Given the description of an element on the screen output the (x, y) to click on. 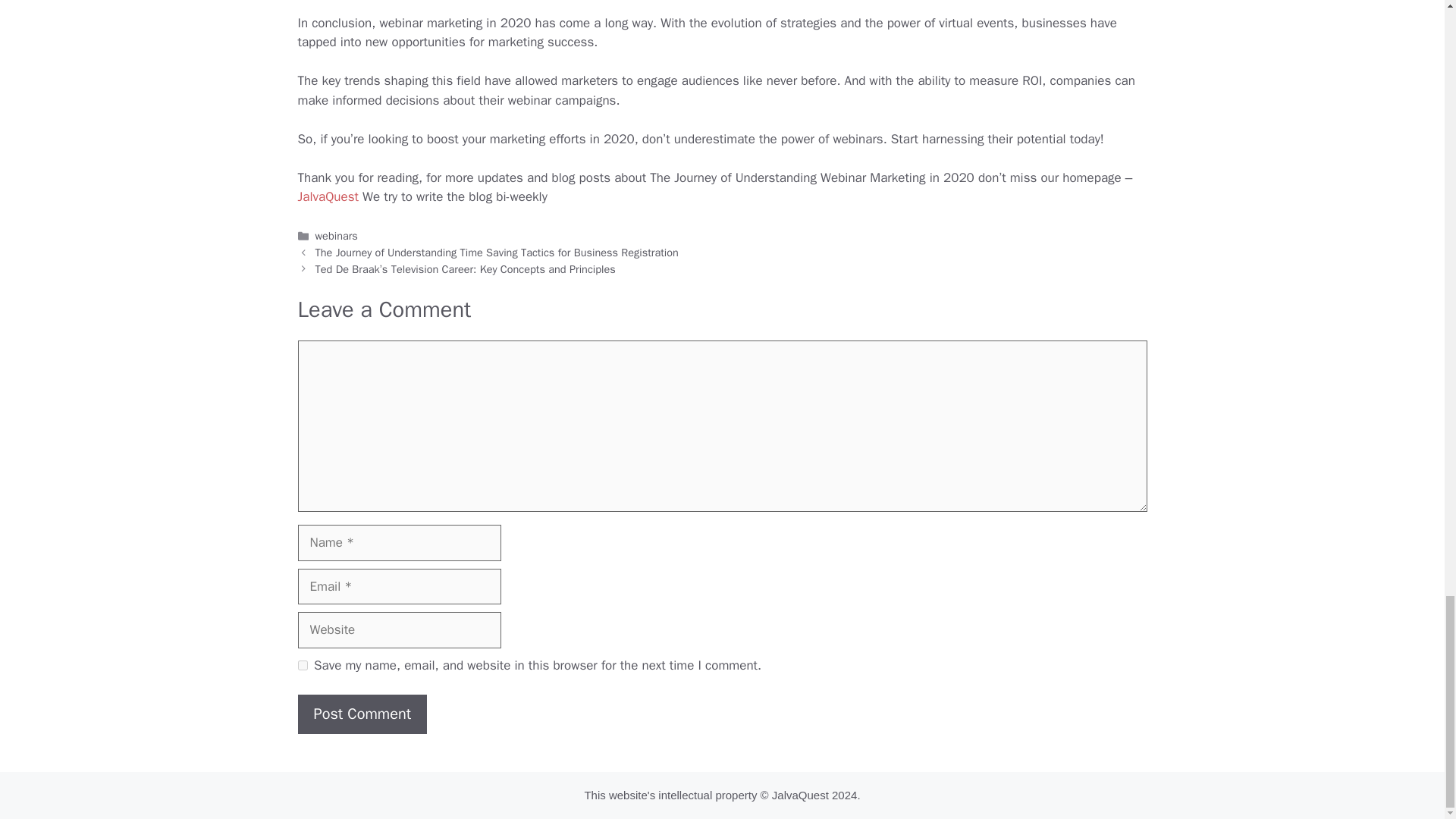
JalvaQuest (799, 794)
Post Comment (361, 713)
yes (302, 665)
Post Comment (361, 713)
webinars (336, 235)
JalvaQuest (327, 196)
